Given the description of an element on the screen output the (x, y) to click on. 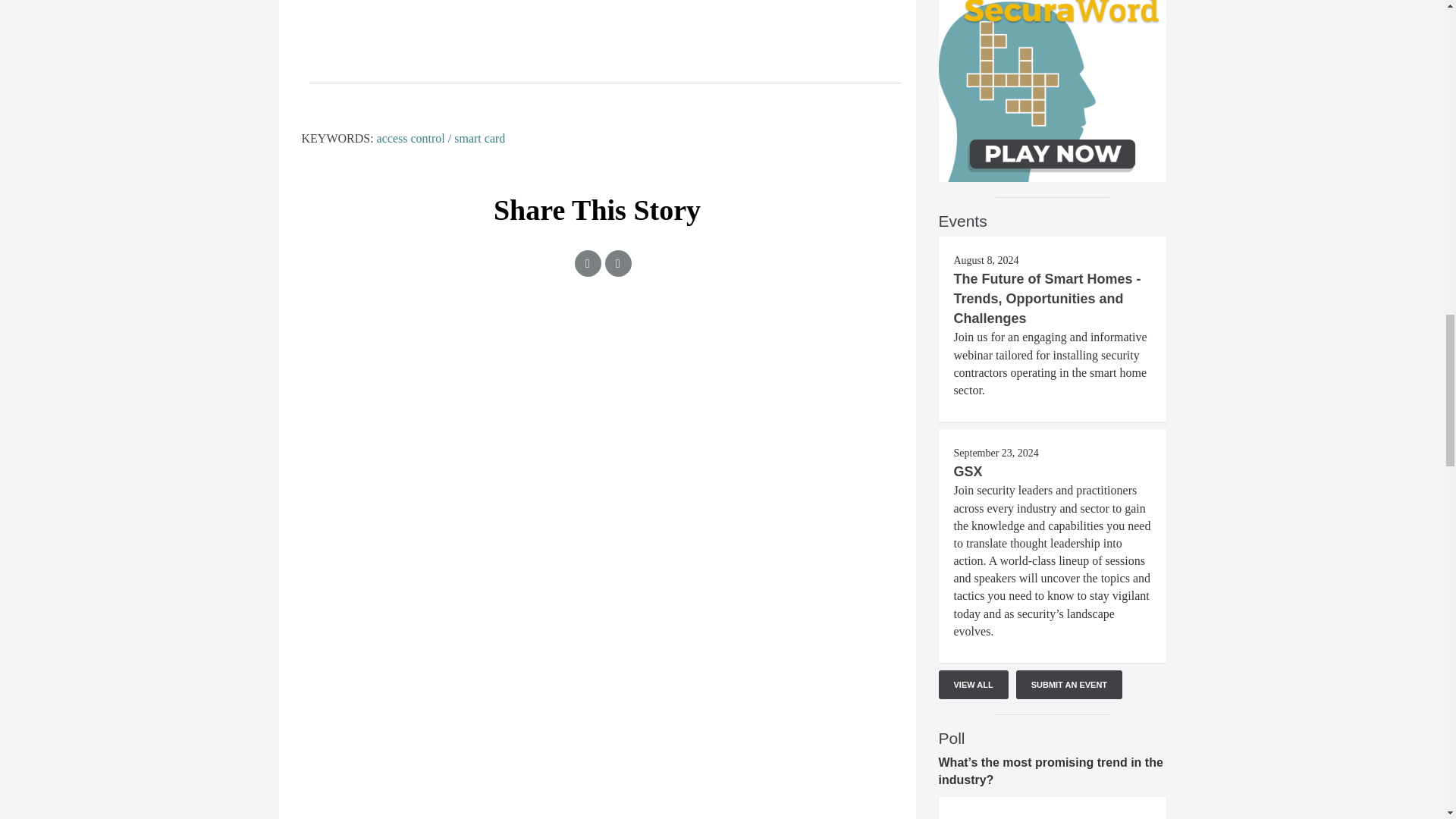
GSX (967, 471)
